Given the description of an element on the screen output the (x, y) to click on. 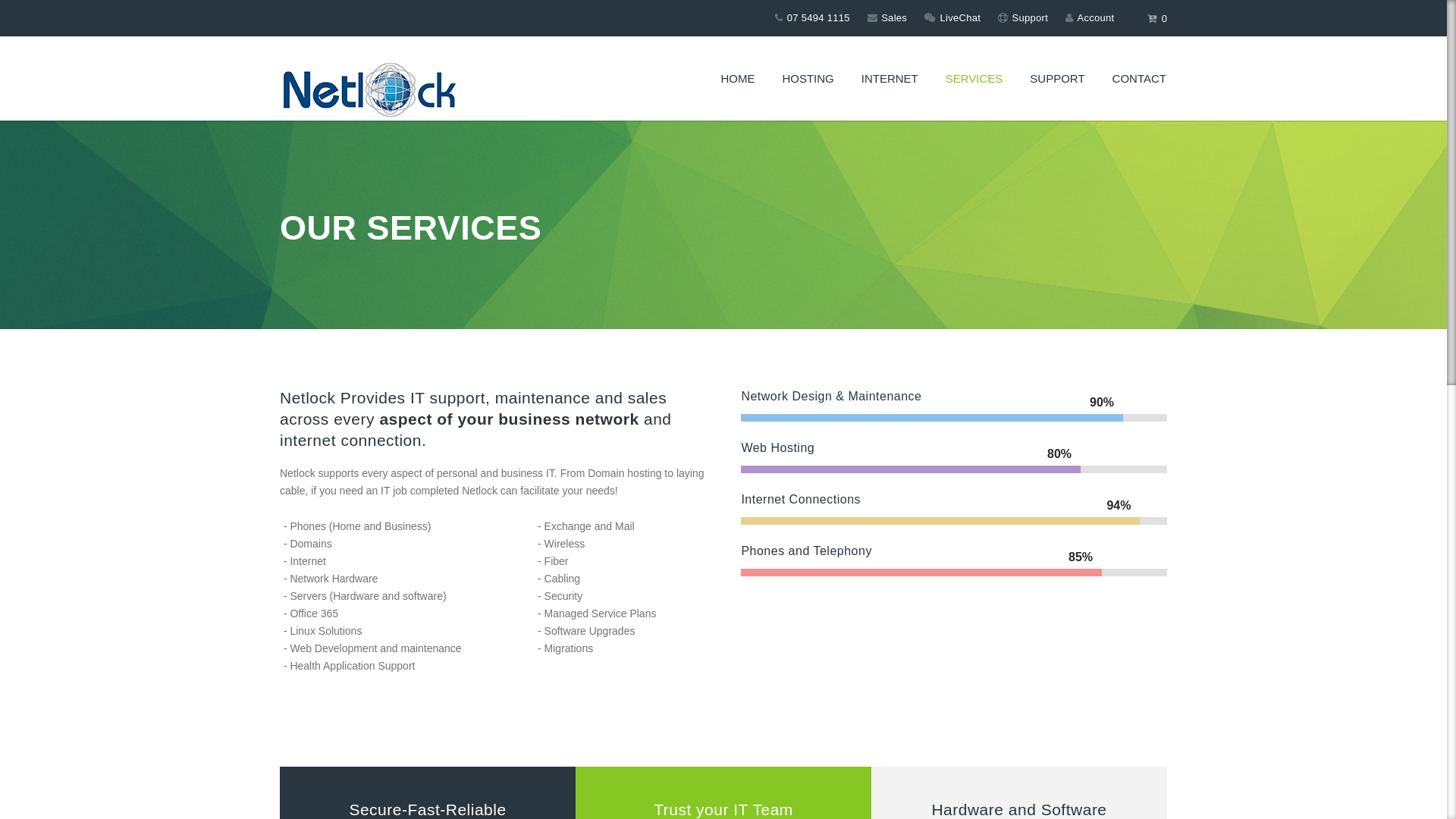
07 5494 1115 Element type: text (812, 18)
Home Element type: hover (390, 92)
HOME Element type: text (737, 78)
CONTACT Element type: text (1138, 78)
Sales Element type: text (886, 18)
SUPPORT Element type: text (1057, 78)
Account Element type: text (1089, 18)
LiveChat Element type: text (952, 18)
SERVICES Element type: text (973, 78)
HOSTING Element type: text (807, 78)
Support Element type: text (1022, 18)
Skip to main content Element type: text (48, 0)
INTERNET Element type: text (889, 78)
  0 Element type: text (1157, 19)
